Given the description of an element on the screen output the (x, y) to click on. 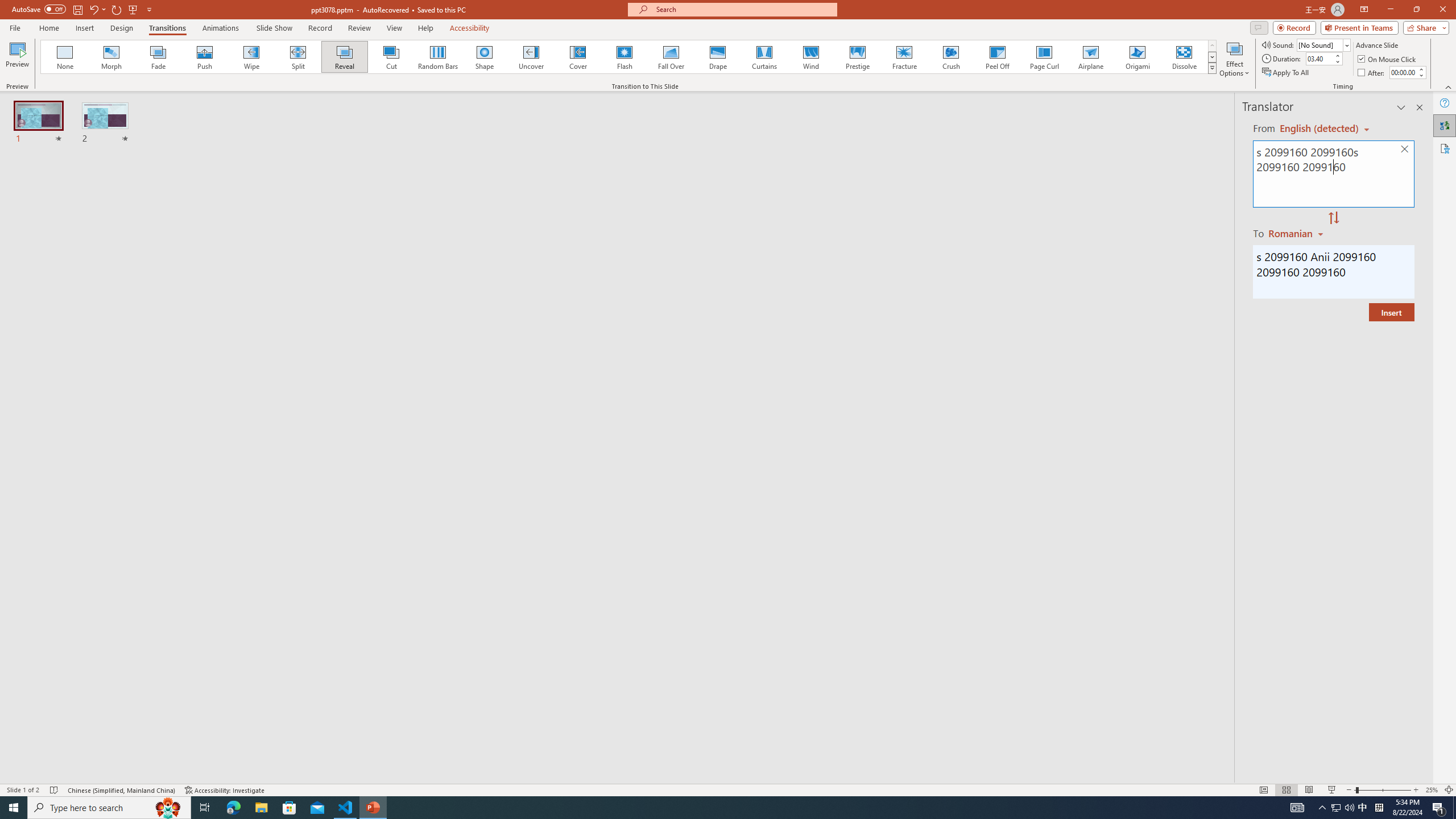
Flash (624, 56)
Swap "from" and "to" languages. (1333, 218)
More (1420, 69)
Less (1420, 75)
Clear text (1404, 149)
Airplane (1090, 56)
Push (205, 56)
Romanian (1296, 232)
